Given the description of an element on the screen output the (x, y) to click on. 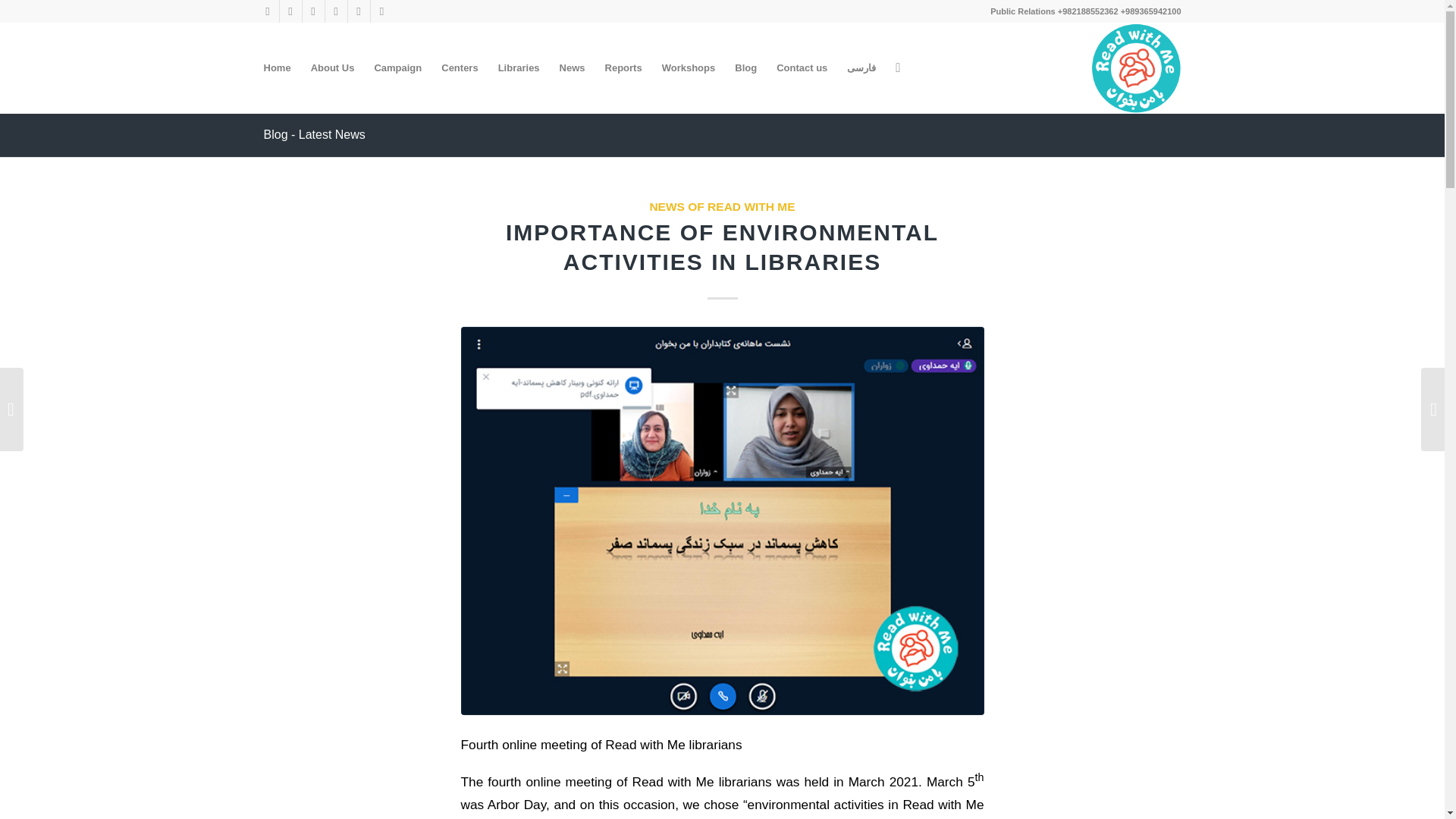
Instagram (290, 11)
Aparat (312, 11)
Home (276, 67)
Centers (458, 67)
rwm-logo-website-small (1135, 67)
Mail (381, 11)
Telegram (267, 11)
About Us (333, 67)
Campaign (397, 67)
Youtube (335, 11)
Facebook (358, 11)
Permanent Link: Blog - Latest News (314, 133)
